Given the description of an element on the screen output the (x, y) to click on. 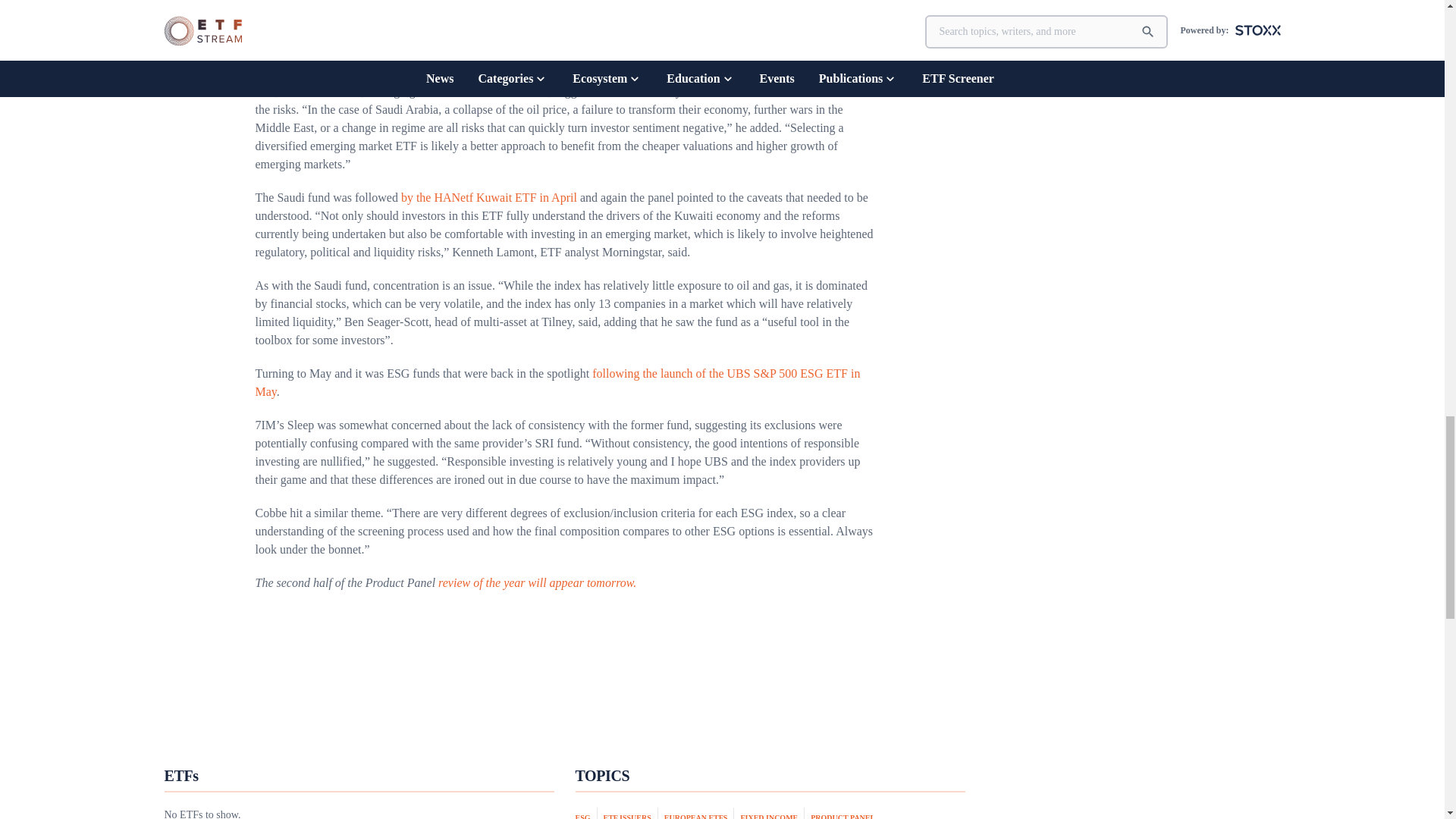
ESG (585, 813)
EUROPEAN ETFS (699, 813)
ETF ISSUERS (631, 813)
by the HANetf Kuwait ETF in April (488, 196)
FIXED INCOME (772, 813)
PRODUCT PANEL (842, 814)
Referring to the MSCI EM inclusion (343, 39)
review of the year will appear tomorrow. (537, 582)
